Given the description of an element on the screen output the (x, y) to click on. 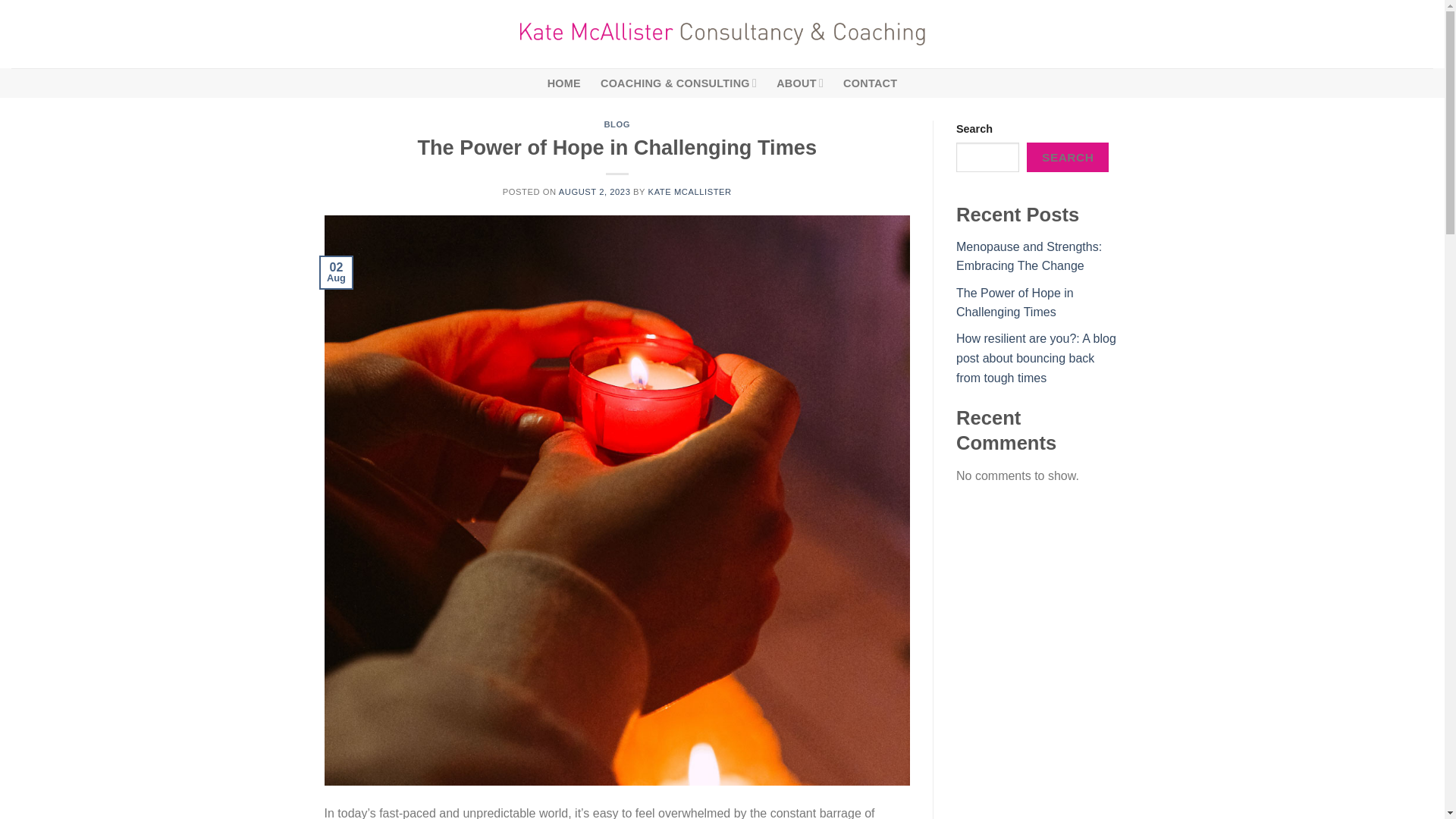
SEARCH (1067, 156)
HOME (563, 83)
BLOG (617, 123)
The Power of Hope in Challenging Times (1015, 302)
AUGUST 2, 2023 (594, 191)
Menopause and Strengths: Embracing The Change (1029, 256)
ABOUT (800, 82)
KATE MCALLISTER (689, 191)
CONTACT (869, 83)
